Given the description of an element on the screen output the (x, y) to click on. 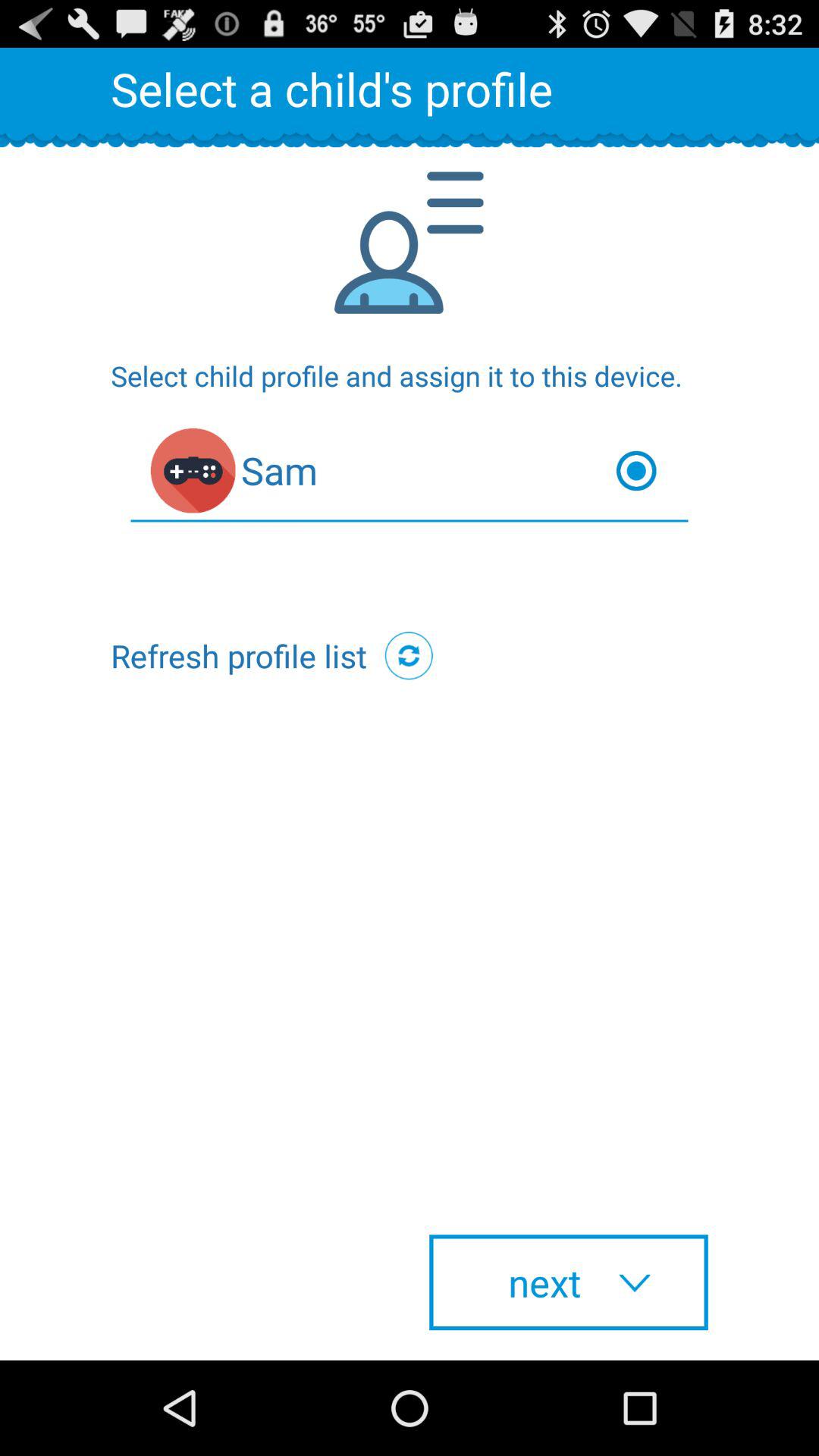
choose app to the right of the refresh profile list item (408, 655)
